Given the description of an element on the screen output the (x, y) to click on. 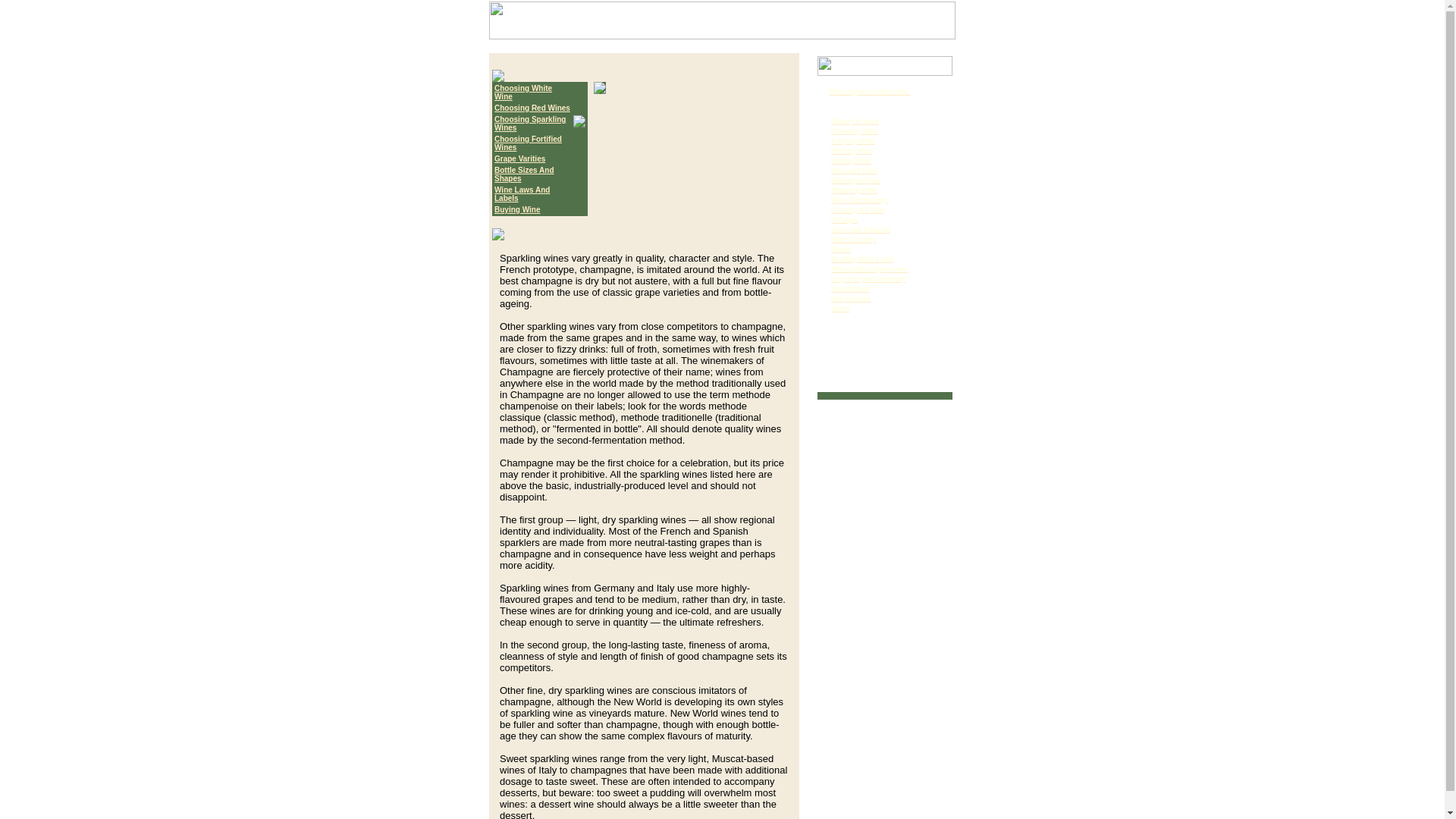
Log in to your inventory (868, 278)
Tasting Wine (850, 160)
Vintages (844, 219)
Buying Wine (517, 209)
Choosing Fortified Wines (528, 143)
Choosing White Wine (523, 92)
Choosing Red Wines (532, 108)
Maturing Wine (854, 189)
Search Wine (850, 288)
Wine Laws And Labels (522, 193)
Grape Varities (519, 158)
Home (839, 307)
Wine regions of the world. (869, 90)
Choosing Sparkling Wines (530, 123)
Keeping Wine (853, 140)
